Given the description of an element on the screen output the (x, y) to click on. 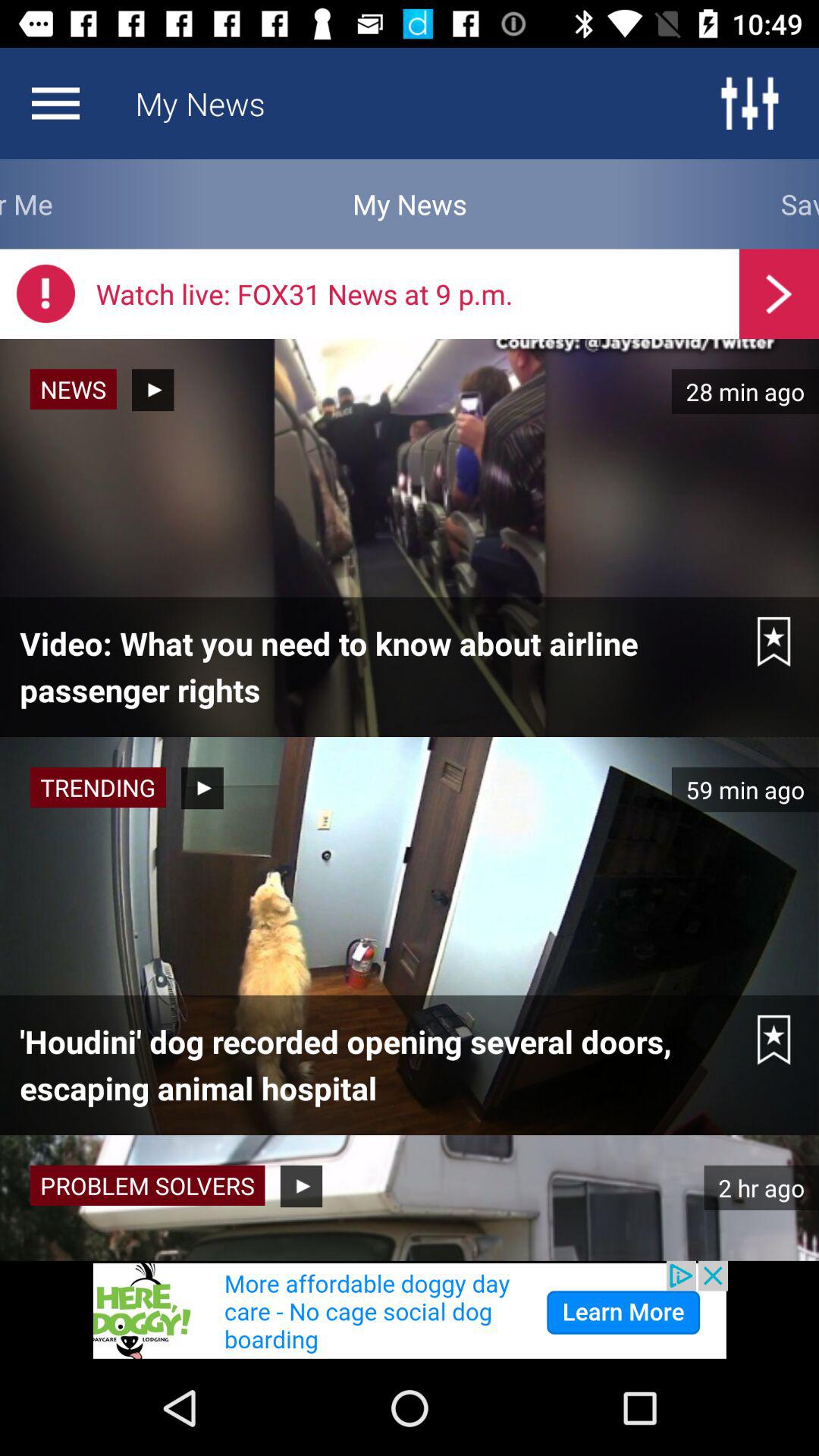
menu button (749, 102)
